Given the description of an element on the screen output the (x, y) to click on. 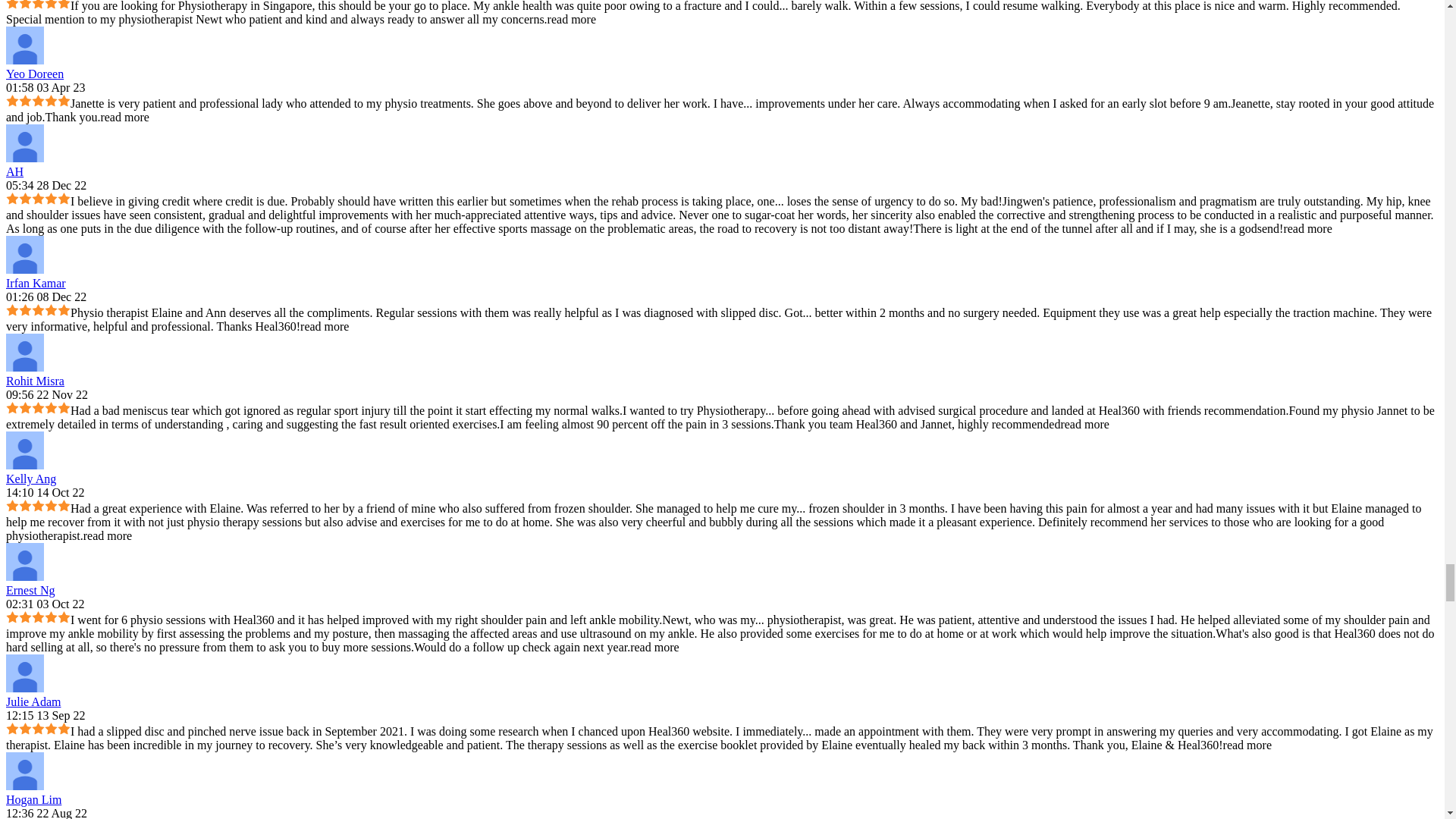
Irfan Kamar (24, 254)
AH (24, 143)
Ernest Ng (24, 561)
Rohit Misra (24, 352)
Kelly Ang (24, 450)
Yeo Doreen (24, 45)
Julie Adam (24, 673)
